Given the description of an element on the screen output the (x, y) to click on. 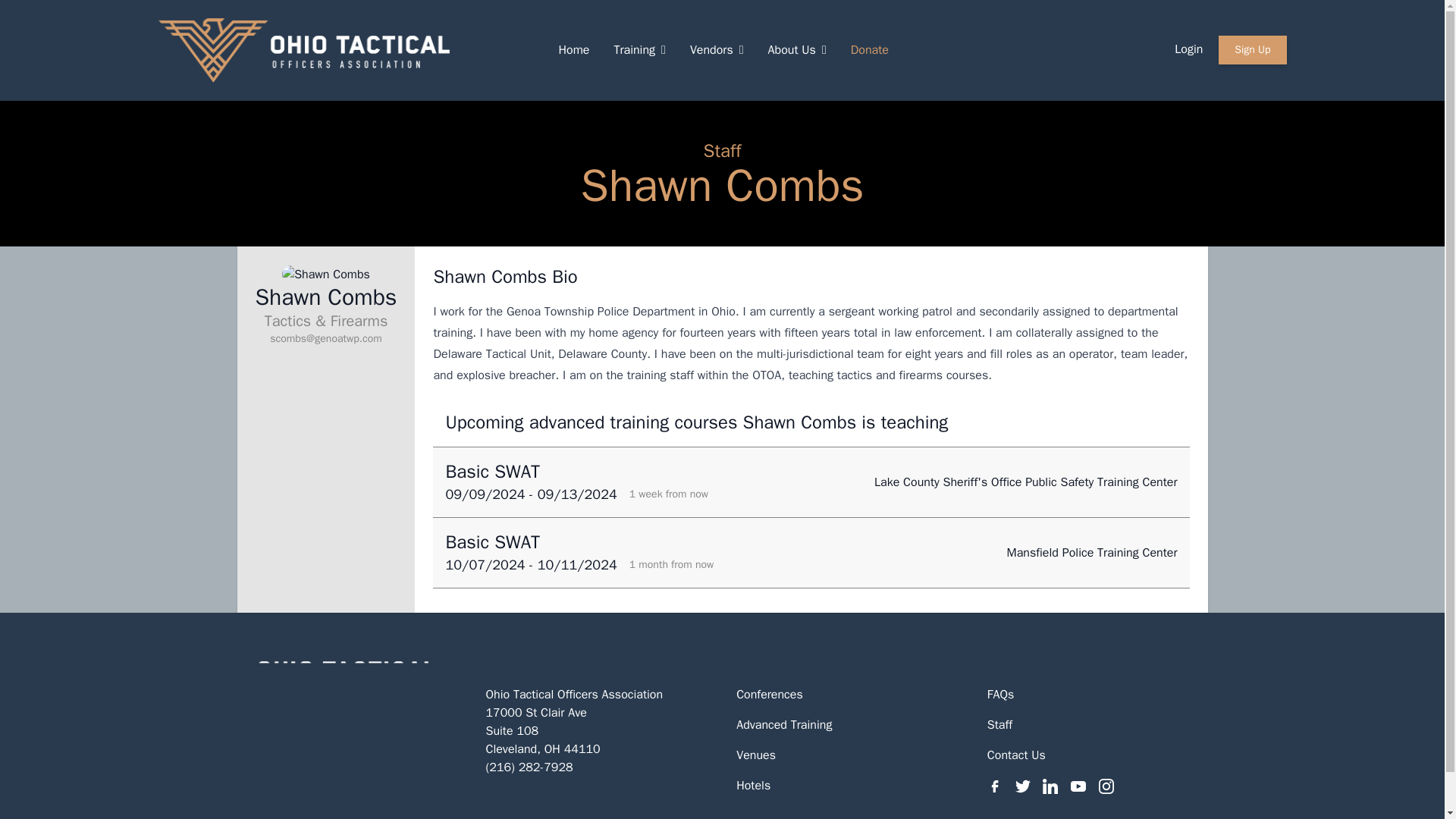
Home (573, 49)
About Us (796, 49)
Training (639, 49)
Vendors (716, 49)
